Given the description of an element on the screen output the (x, y) to click on. 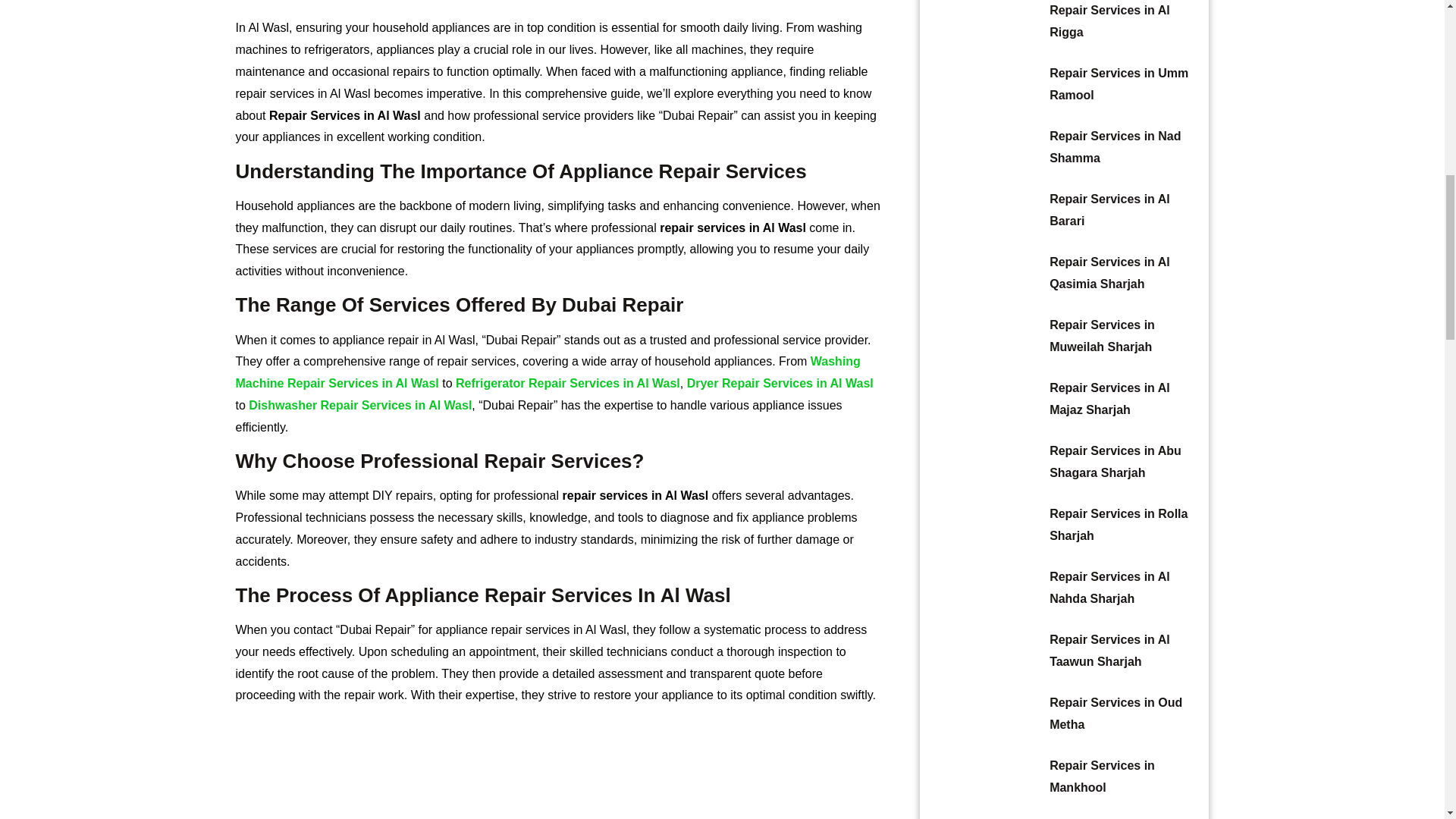
Dishwasher Repair Services in Al Wasl (359, 404)
Washing Machine Repair Services in Al Wasl (547, 371)
Dryer Repair Services in Al Wasl (780, 382)
Refrigerator Repair Services in Al Wasl (567, 382)
